Given the description of an element on the screen output the (x, y) to click on. 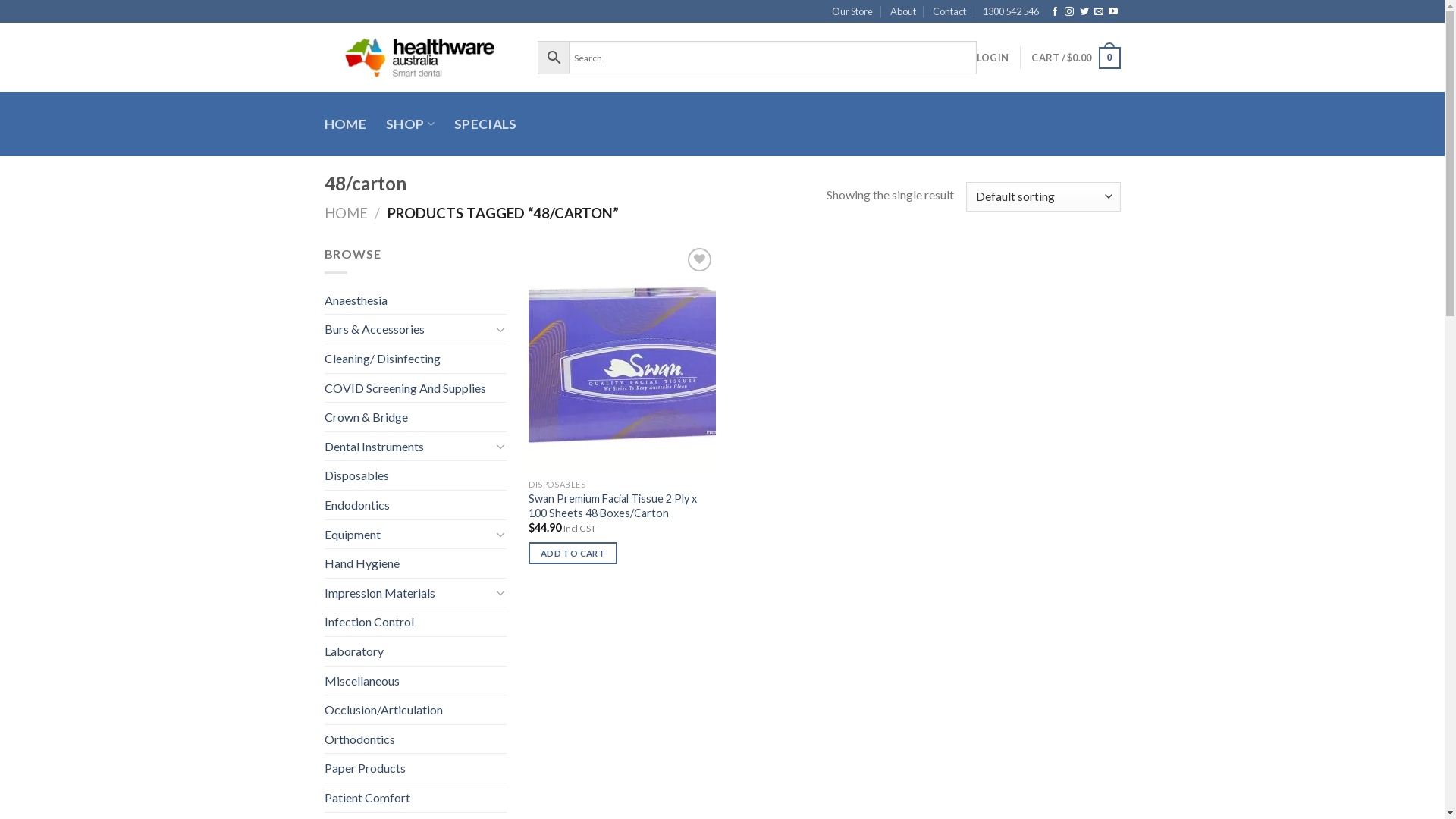
Laboratory Element type: text (415, 651)
Follow on YouTube Element type: hover (1112, 11)
SHOP Element type: text (409, 123)
Dental Instruments Element type: text (407, 446)
CART / $0.00
0 Element type: text (1075, 58)
Endodontics Element type: text (415, 504)
Send us an email Element type: hover (1098, 11)
Miscellaneous Element type: text (415, 680)
Impression Materials Element type: text (407, 592)
Follow on Twitter Element type: hover (1083, 11)
Equipment Element type: text (407, 534)
Patient Comfort Element type: text (415, 797)
LOGIN Element type: text (992, 57)
Infection Control Element type: text (415, 621)
Follow on Instagram Element type: hover (1068, 11)
Healthware Australia - Smart dental Element type: hover (419, 56)
Cleaning/ Disinfecting Element type: text (415, 358)
Burs & Accessories Element type: text (407, 328)
ADD TO CART Element type: text (572, 553)
Disposables Element type: text (415, 475)
COVID Screening And Supplies Element type: text (415, 387)
SPECIALS Element type: text (485, 124)
Orthodontics Element type: text (415, 738)
Anaesthesia Element type: text (415, 299)
1300 542 546 Element type: text (1010, 11)
HOME Element type: text (345, 212)
Crown & Bridge Element type: text (415, 416)
Contact Element type: text (949, 11)
Follow on Facebook Element type: hover (1054, 11)
HOME Element type: text (345, 124)
Our Store Element type: text (851, 11)
Occlusion/Articulation Element type: text (415, 709)
Paper Products Element type: text (415, 767)
Hand Hygiene Element type: text (415, 563)
About Element type: text (903, 11)
